Given the description of an element on the screen output the (x, y) to click on. 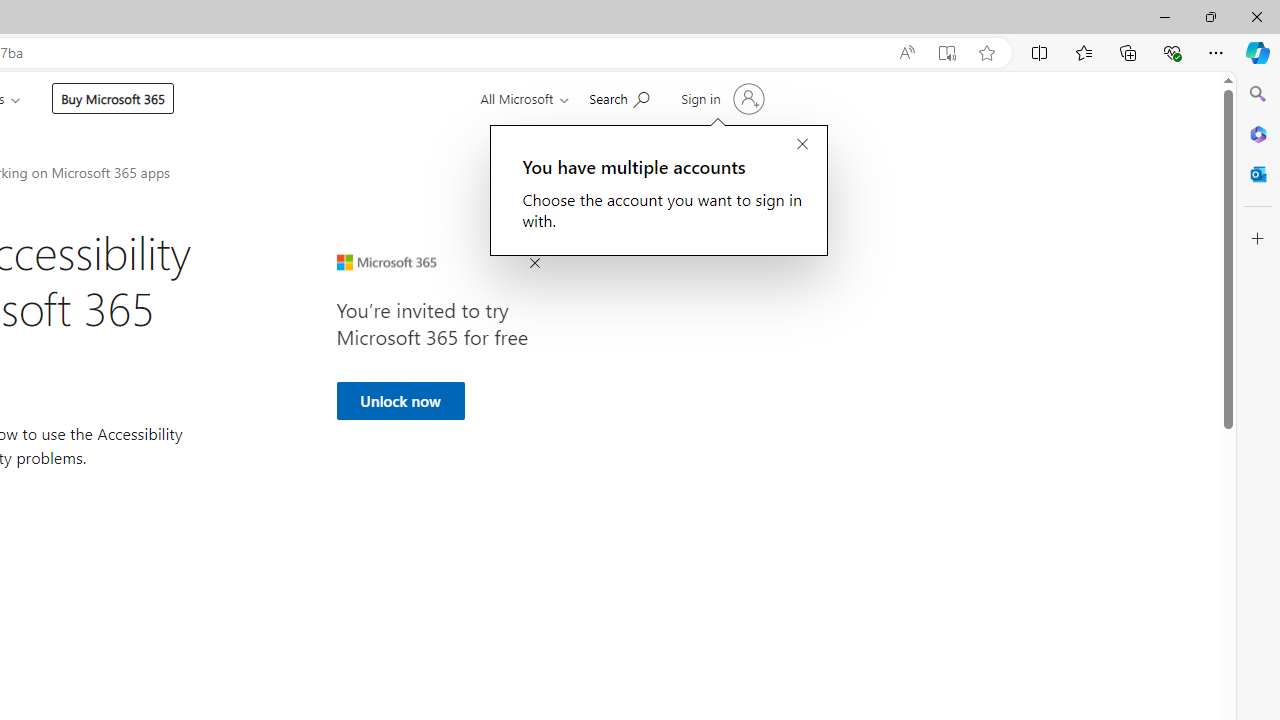
Copilot (Ctrl+Shift+.) (1258, 52)
Collections (1128, 52)
Unlock now (399, 399)
Enter Immersive Reader (F9) (946, 53)
Sign in to your account (721, 98)
Settings and more (Alt+F) (1215, 52)
Buy Microsoft 365 (112, 98)
Buy Microsoft 365 (113, 97)
Close Ad (534, 264)
Search for help (619, 97)
Read aloud this page (Ctrl+Shift+U) (906, 53)
Restore (1210, 16)
Split screen (1039, 52)
